Given the description of an element on the screen output the (x, y) to click on. 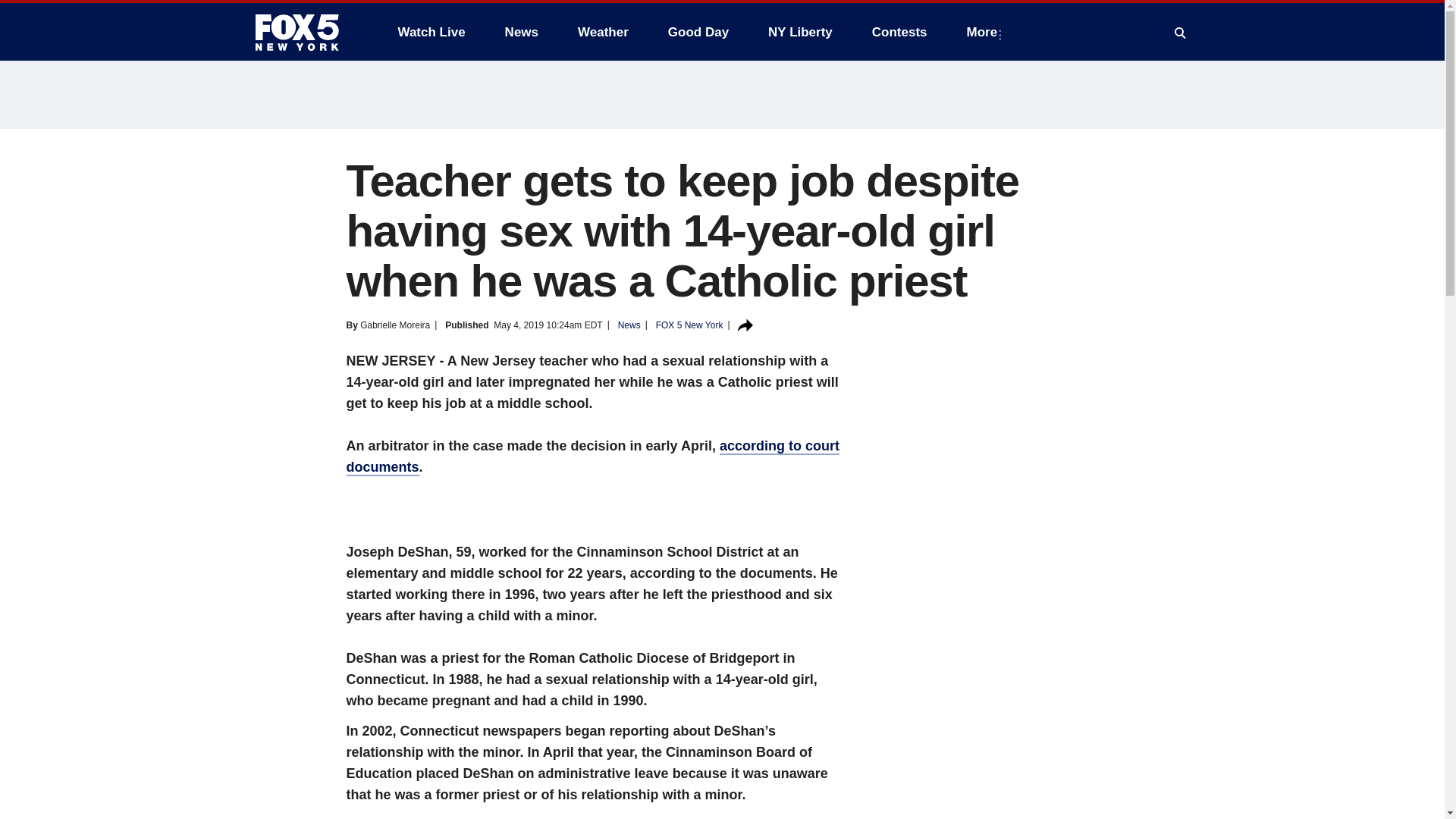
Weather (603, 32)
Contests (899, 32)
NY Liberty (799, 32)
News (521, 32)
More (985, 32)
Watch Live (431, 32)
Good Day (698, 32)
